Given the description of an element on the screen output the (x, y) to click on. 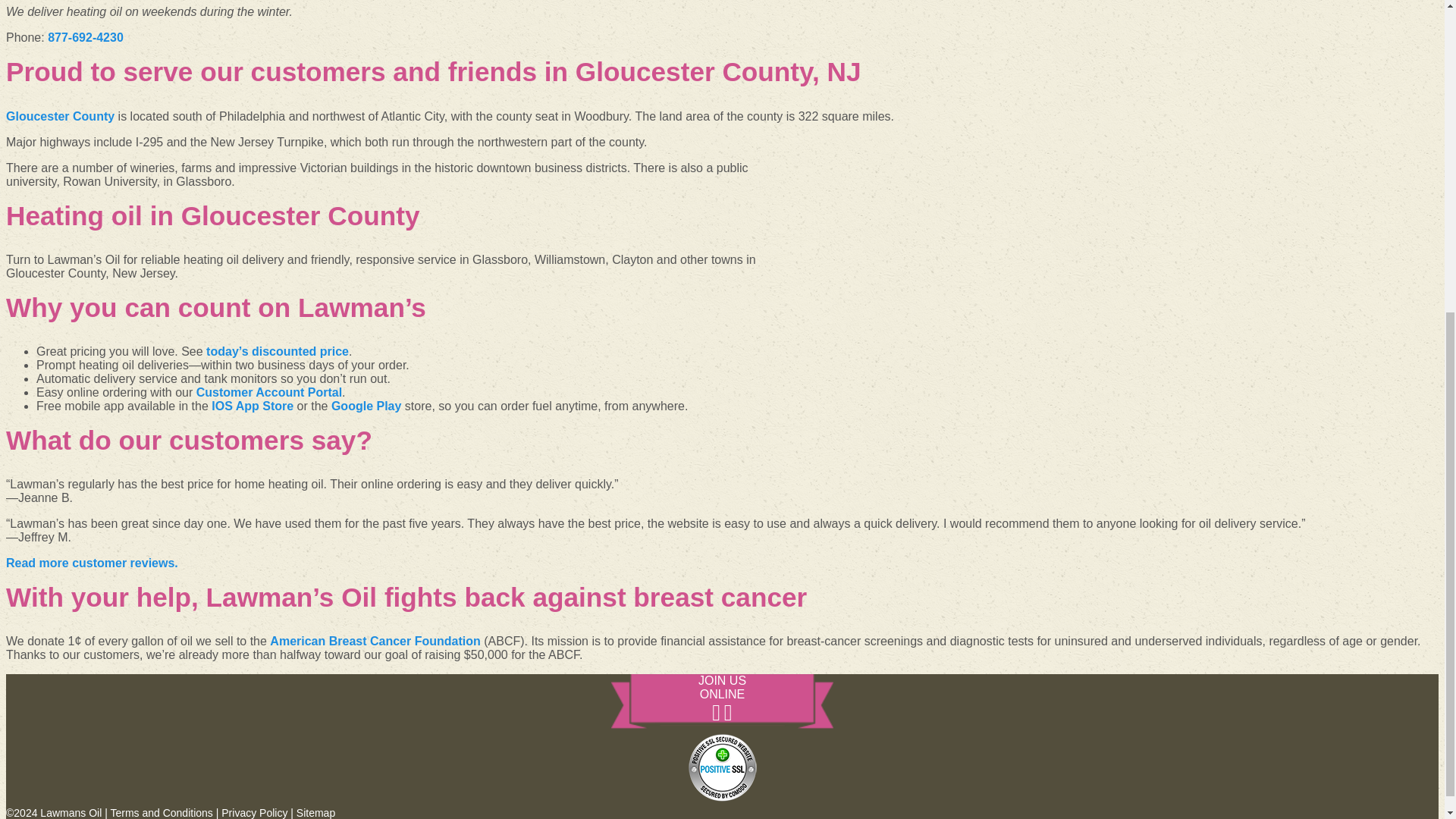
Read more customer reviews. (91, 562)
IOS App Store (252, 405)
ssl (721, 767)
877-692-4230 (85, 37)
Customer Account Portal (269, 391)
American Breast Cancer Foundation (374, 640)
Gloucester County (60, 115)
Google Play (366, 405)
